Given the description of an element on the screen output the (x, y) to click on. 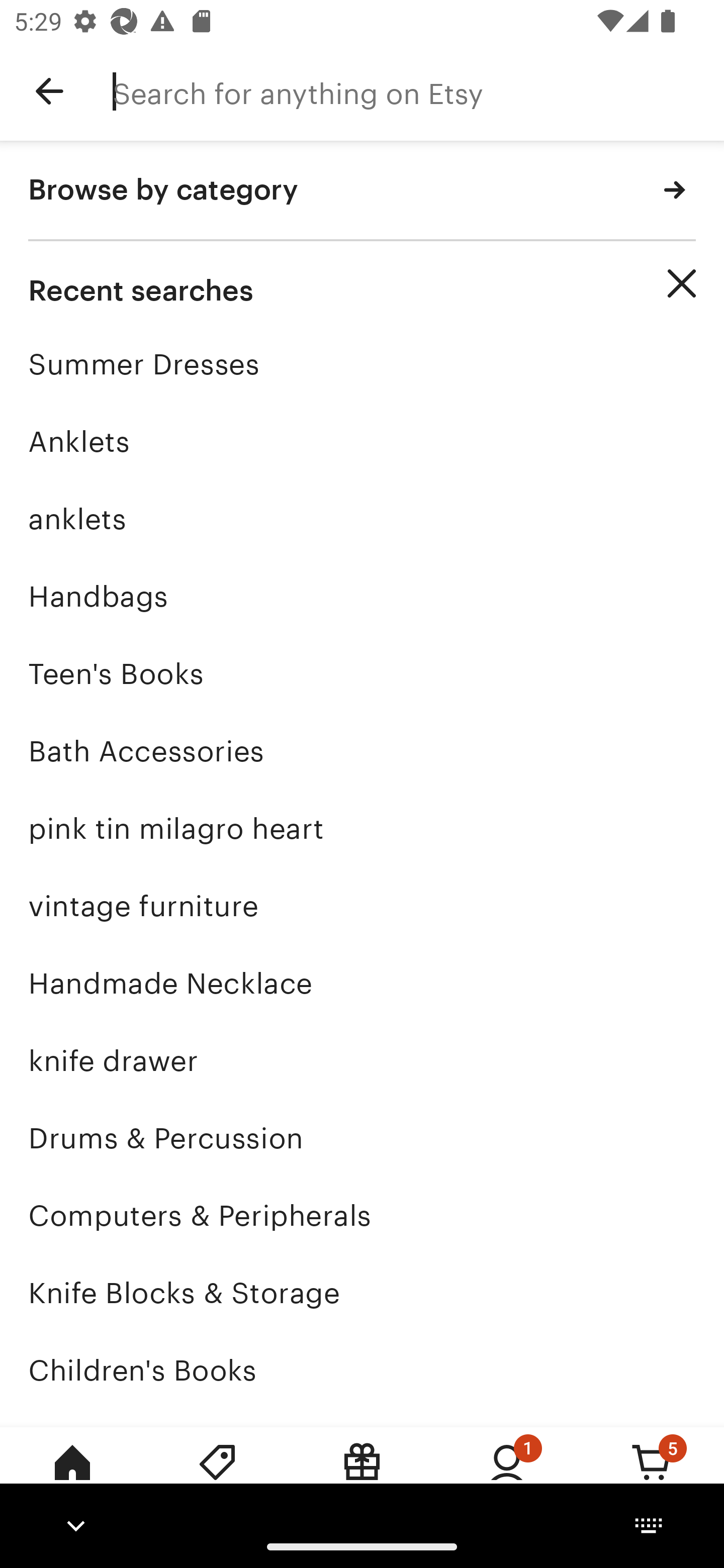
Navigate up (49, 91)
Search for anything on Etsy (418, 91)
Browse by category (362, 191)
Clear (681, 283)
Summer Dresses (362, 364)
Anklets (362, 440)
anklets (362, 518)
Handbags (362, 596)
Teen's Books (362, 673)
Bath Accessories (362, 750)
pink tin milagro heart (362, 828)
vintage furniture (362, 906)
Handmade Necklace (362, 983)
knife drawer (362, 1060)
Drums & Percussion (362, 1138)
Computers & Peripherals (362, 1215)
Knife Blocks & Storage (362, 1292)
Children's Books (362, 1370)
Deals (216, 1475)
Gift Mode (361, 1475)
You, 1 new notification (506, 1475)
Cart, 5 new notifications (651, 1475)
